Given the description of an element on the screen output the (x, y) to click on. 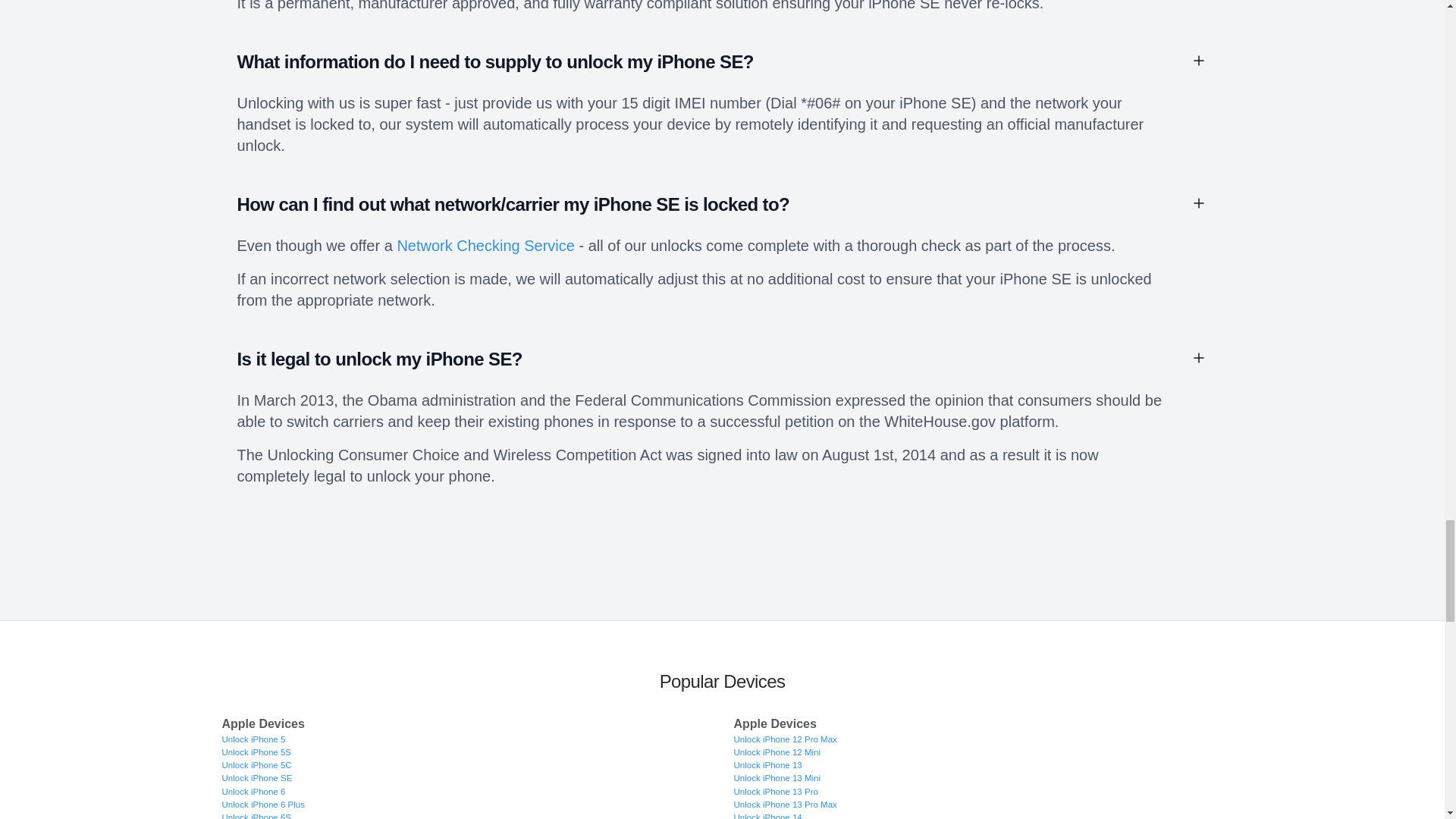
Unlock iPhone 6 Plus (262, 804)
Unlock iPhone 5 (253, 738)
Unlock iPhone 5C (256, 764)
Unlock iPhone 6S (256, 816)
Unlock iPhone 5S (256, 751)
Unlock iPhone 6 (253, 791)
Unlock iPhone SE (256, 777)
